Given the description of an element on the screen output the (x, y) to click on. 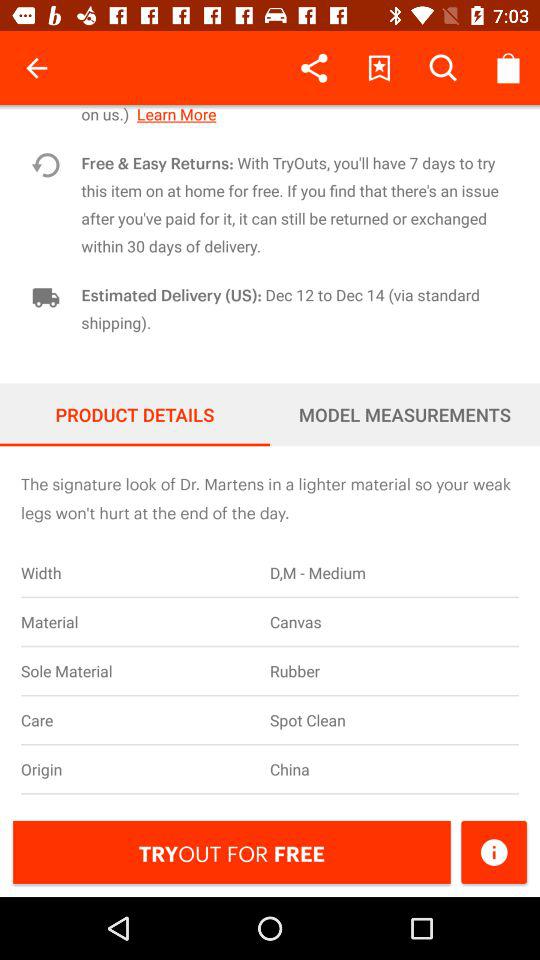
click the item above the free easy returns icon (294, 114)
